Given the description of an element on the screen output the (x, y) to click on. 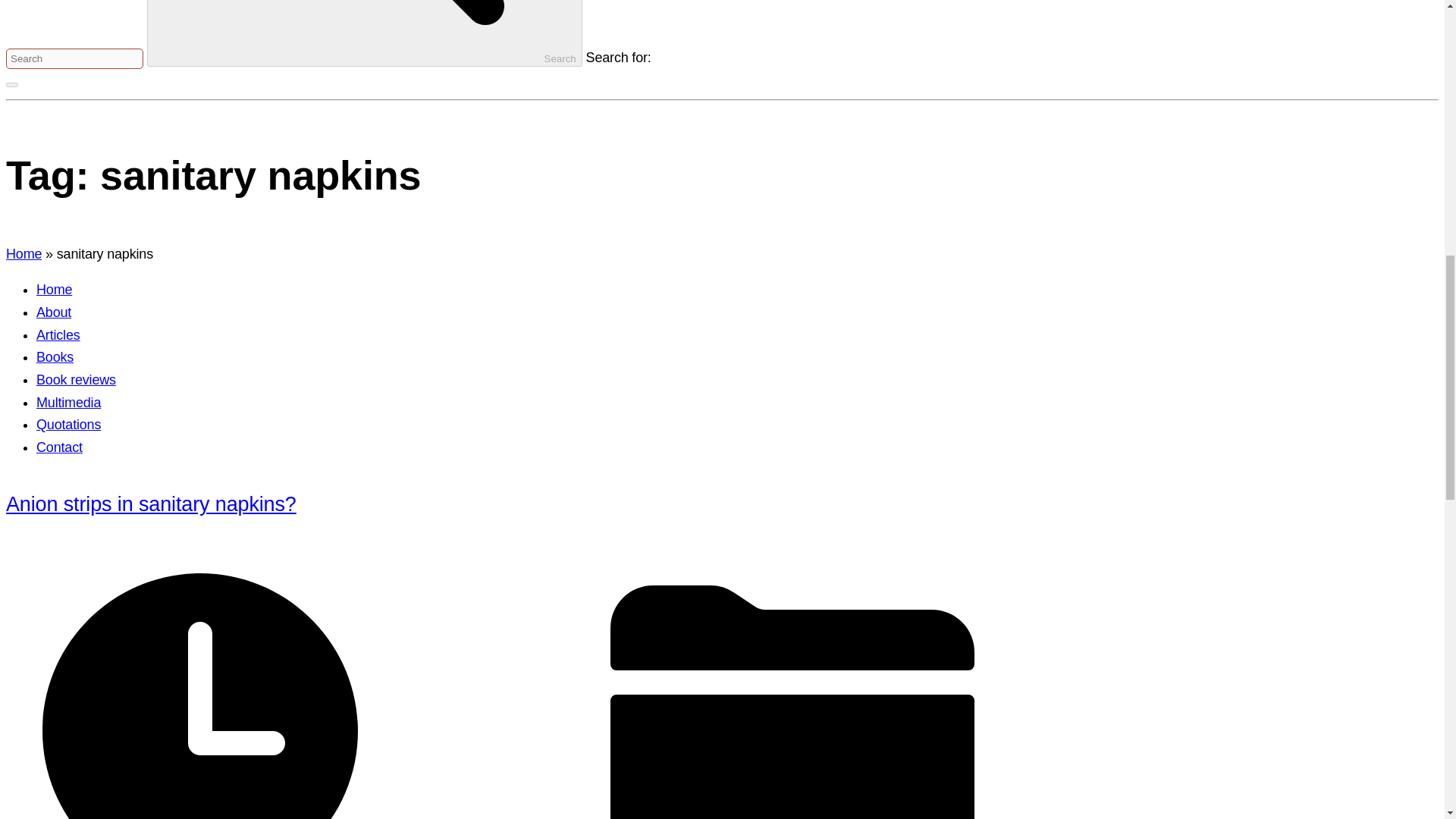
Search (364, 33)
Anion strips in sanitary napkins? (151, 504)
Articles (58, 335)
Quotations (68, 424)
Books (55, 356)
Contact (59, 447)
Multimedia (68, 402)
Home (23, 253)
Home (53, 289)
Book reviews (76, 379)
About (53, 312)
